Given the description of an element on the screen output the (x, y) to click on. 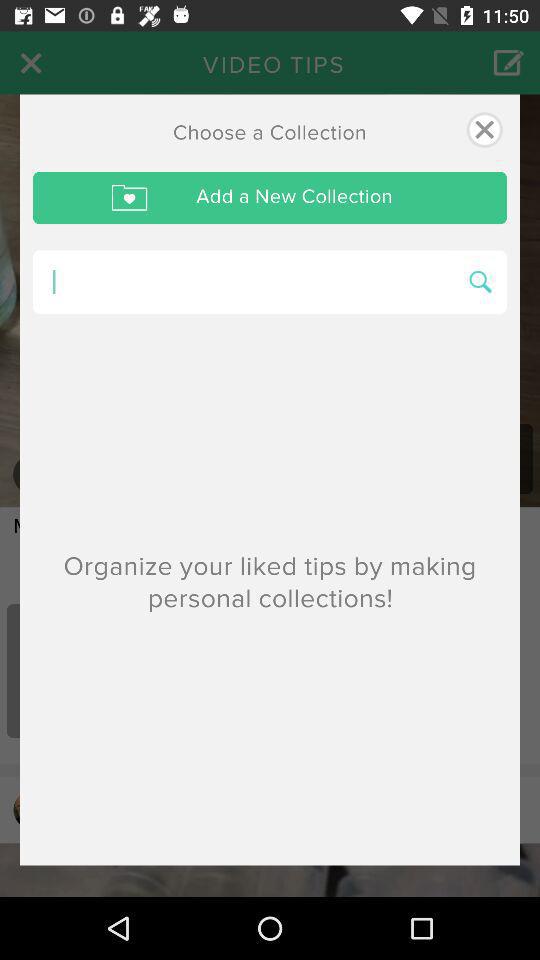
close window (484, 129)
